Given the description of an element on the screen output the (x, y) to click on. 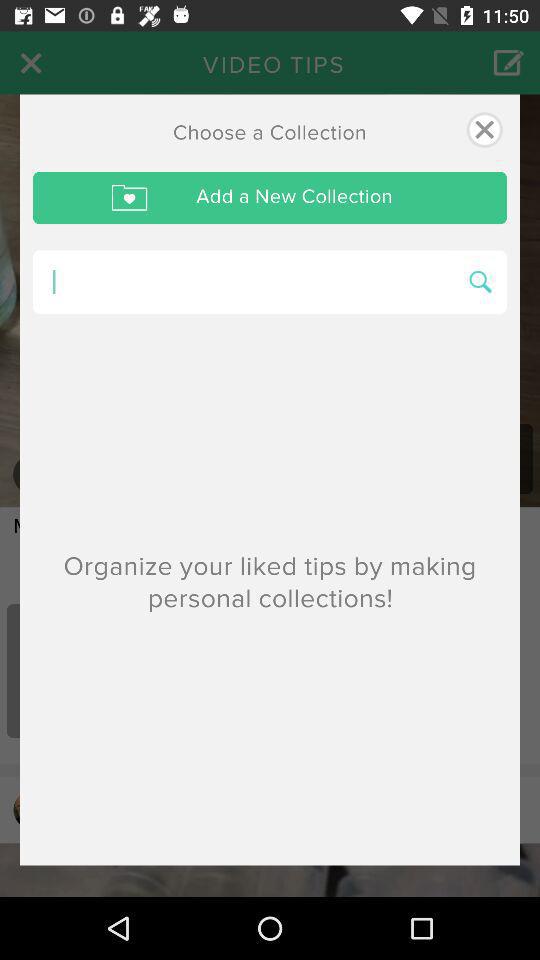
close window (484, 129)
